Given the description of an element on the screen output the (x, y) to click on. 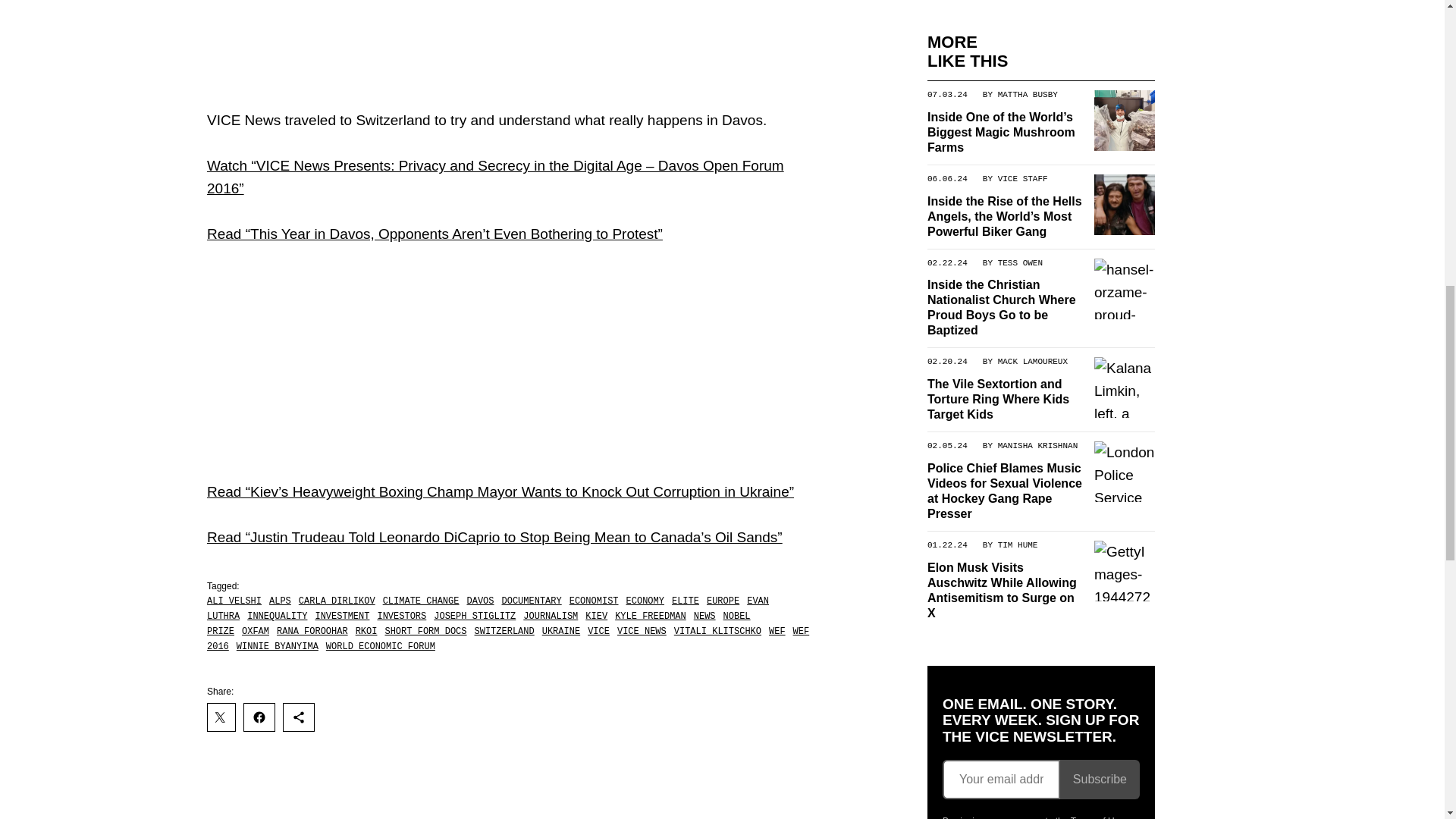
Posts by Mack Lamoureux (1032, 361)
Posts by Manisha Krishnan (1037, 444)
Newsletter Signup Form (1040, 779)
Posts by VICE Staff (1021, 177)
Posts by Mattha Busby (1027, 93)
Posts by Tim Hume (1016, 543)
Posts by Tess Owen (1019, 261)
